Given the description of an element on the screen output the (x, y) to click on. 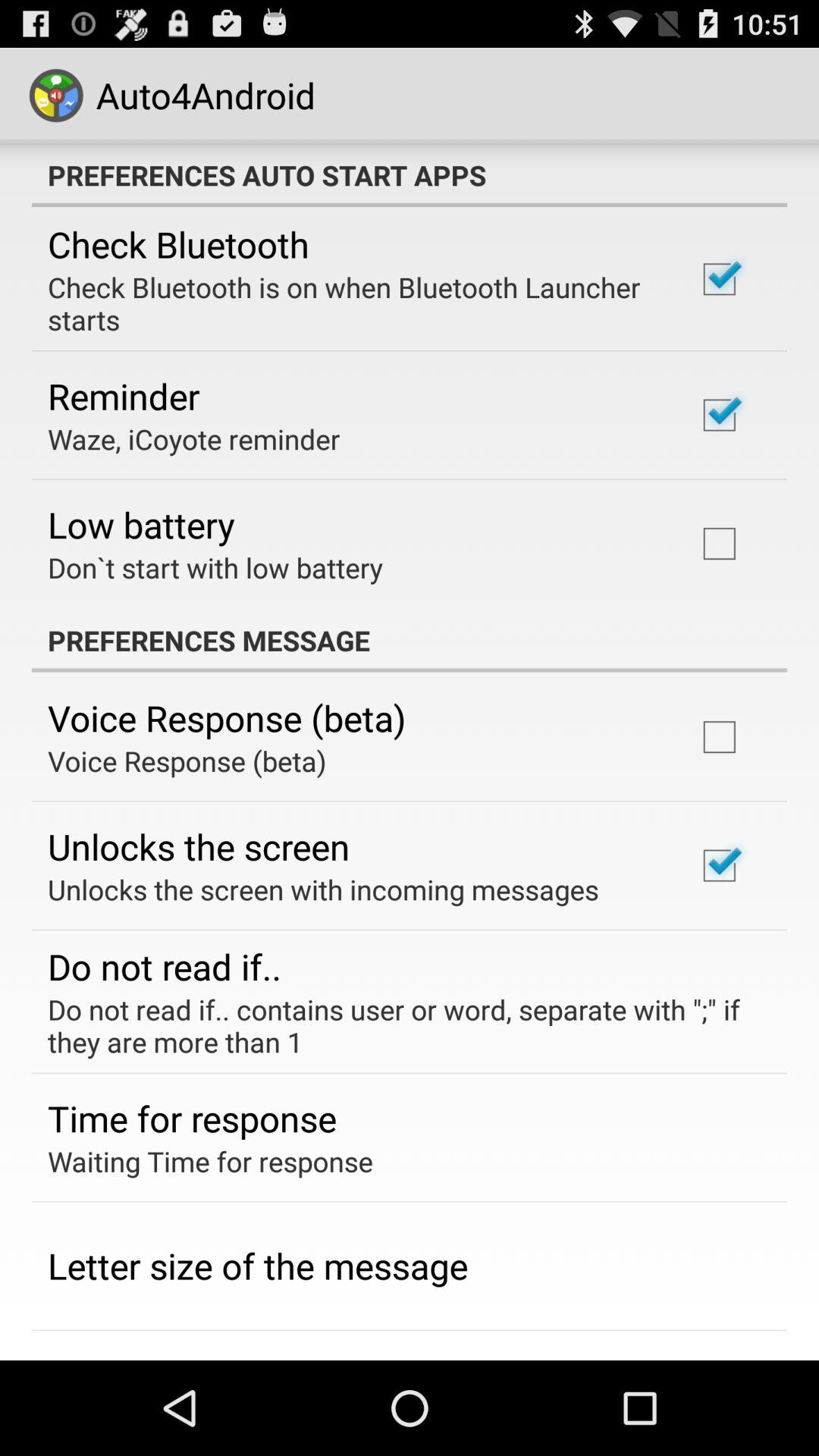
launch the waze, icoyote reminder (193, 438)
